Given the description of an element on the screen output the (x, y) to click on. 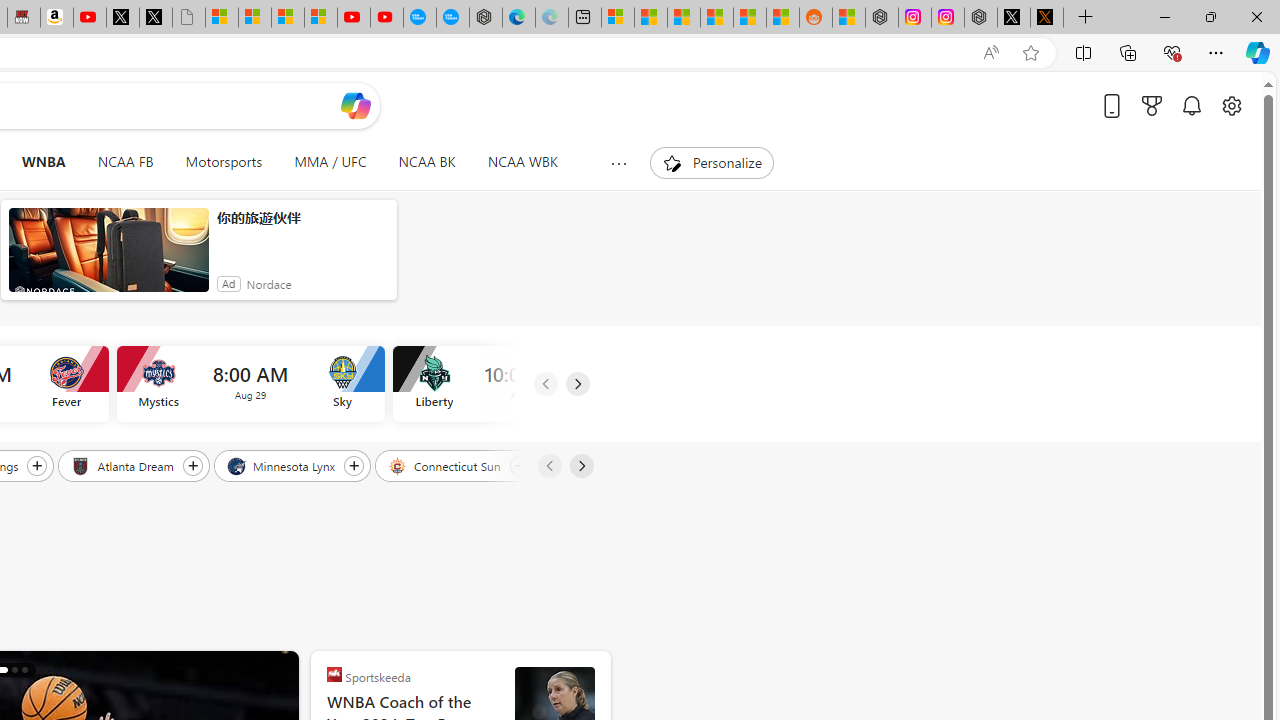
YouTube Kids - An App Created for Kids to Explore Content (387, 17)
Connecticut Sun (445, 465)
Microsoft rewards (1151, 105)
Previous (548, 465)
Minnesota Lynx (281, 465)
WNBA (43, 162)
Nordace (@NordaceOfficial) / X (1014, 17)
MMA / UFC (329, 162)
Personalize (711, 162)
anim-content (107, 258)
